Given the description of an element on the screen output the (x, y) to click on. 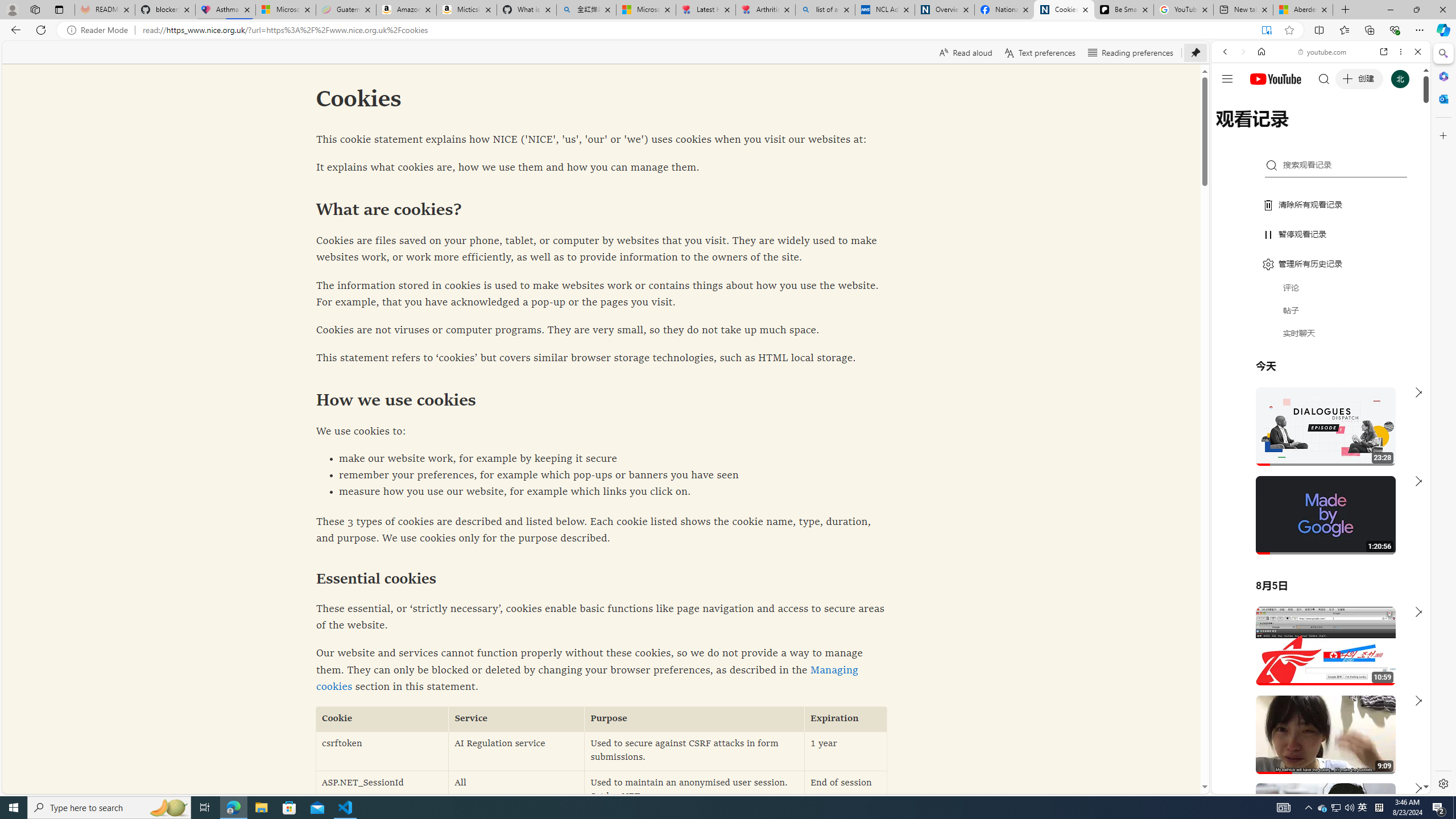
End of session (844, 790)
AI Regulation service (516, 751)
Cookies (1064, 9)
Reading preferences (1129, 52)
Used to secure against CSRF attacks in form submissions. (694, 751)
